Given the description of an element on the screen output the (x, y) to click on. 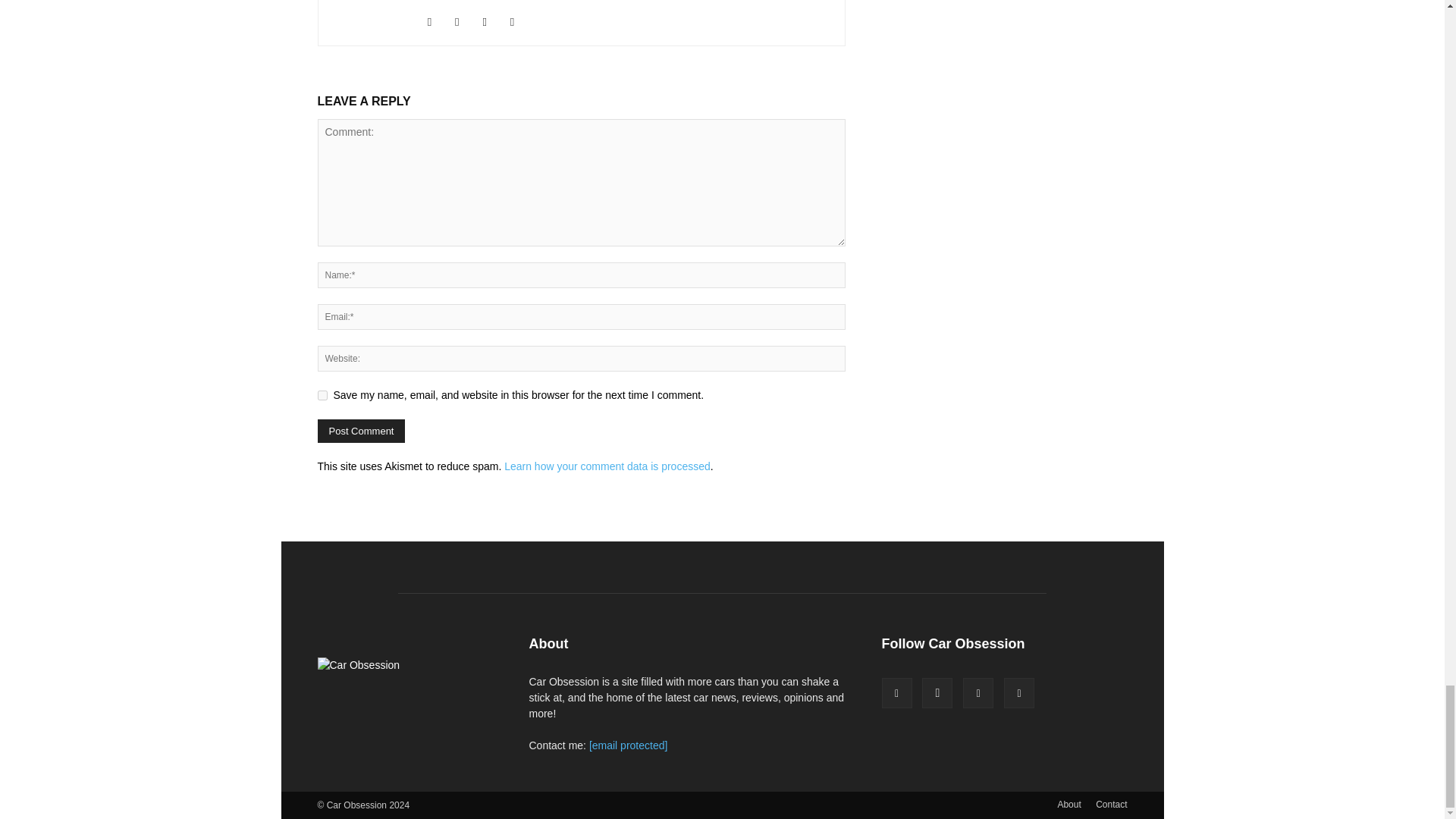
yes (321, 395)
Post Comment (360, 431)
